Given the description of an element on the screen output the (x, y) to click on. 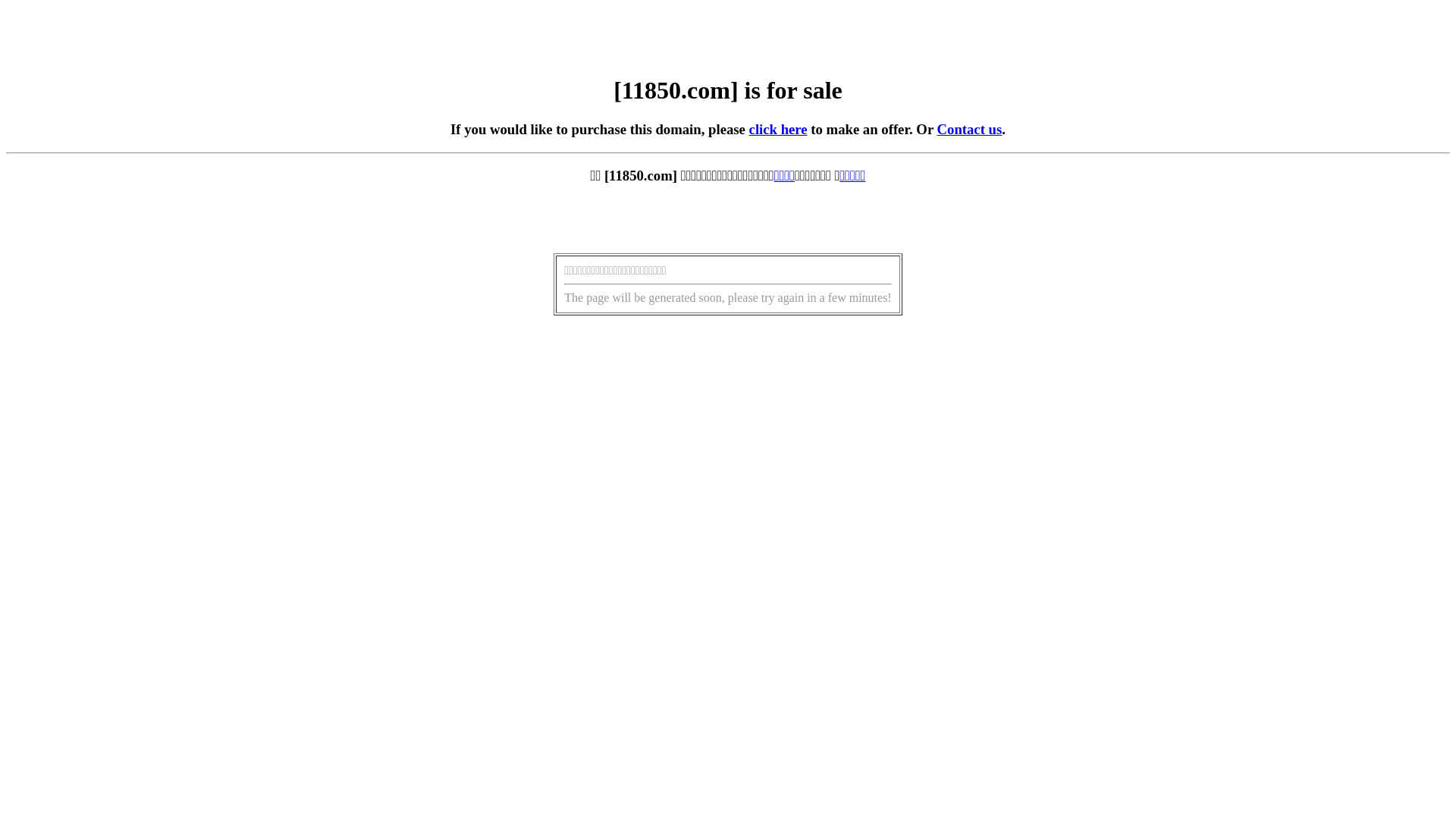
click here Element type: text (778, 129)
Contact us Element type: text (969, 129)
